Given the description of an element on the screen output the (x, y) to click on. 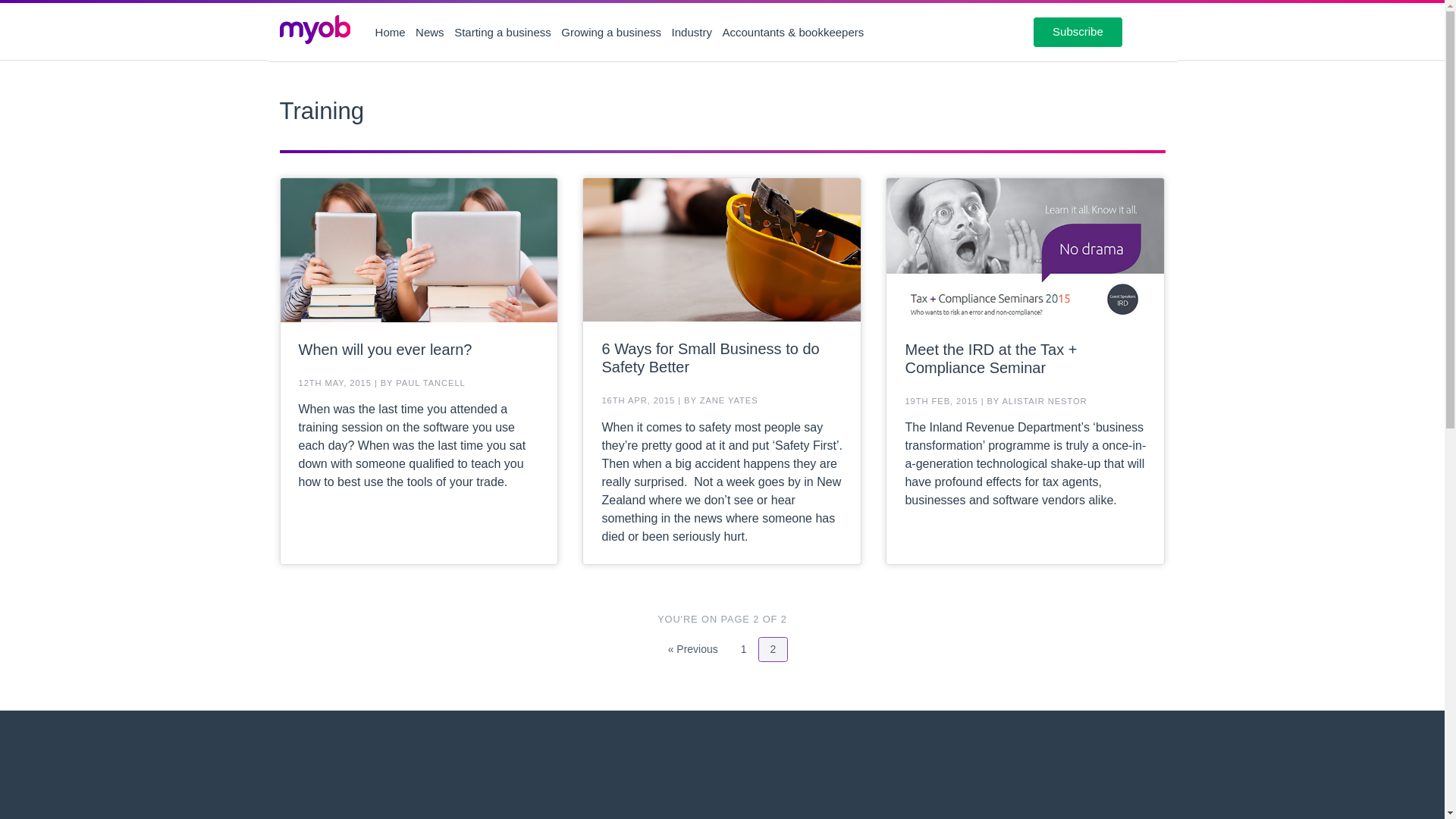
News (429, 31)
Growing a business (610, 31)
MYOB Home (314, 29)
MYOB Home (314, 32)
Home (390, 31)
Subscribe (1077, 31)
Industry (691, 31)
Form 0 (743, 649)
Starting a business (721, 782)
